Given the description of an element on the screen output the (x, y) to click on. 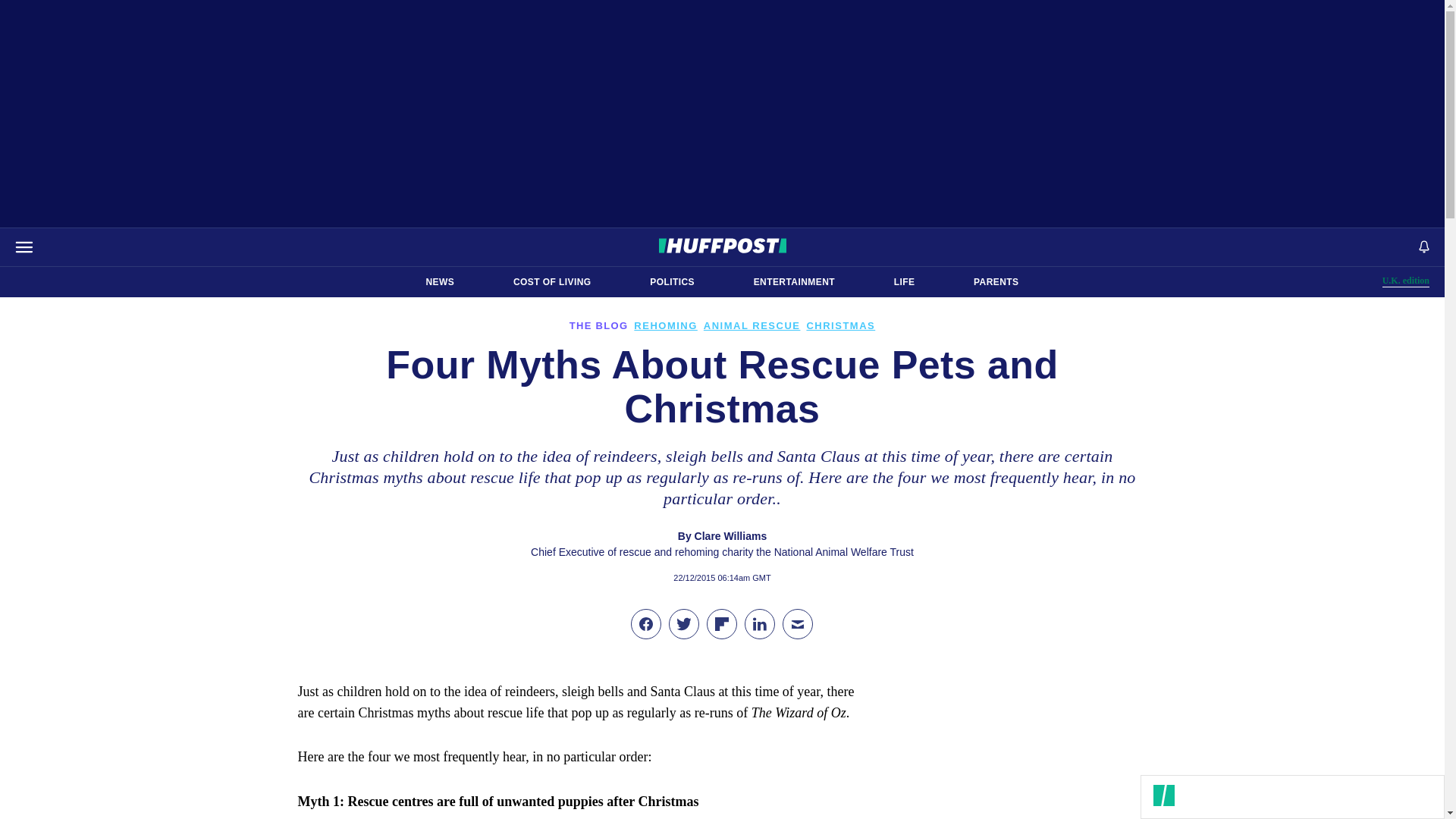
COST OF LIVING (552, 281)
POLITICS (1405, 281)
NEWS (671, 281)
PARENTS (440, 281)
ENTERTAINMENT (995, 281)
LIFE (794, 281)
